Given the description of an element on the screen output the (x, y) to click on. 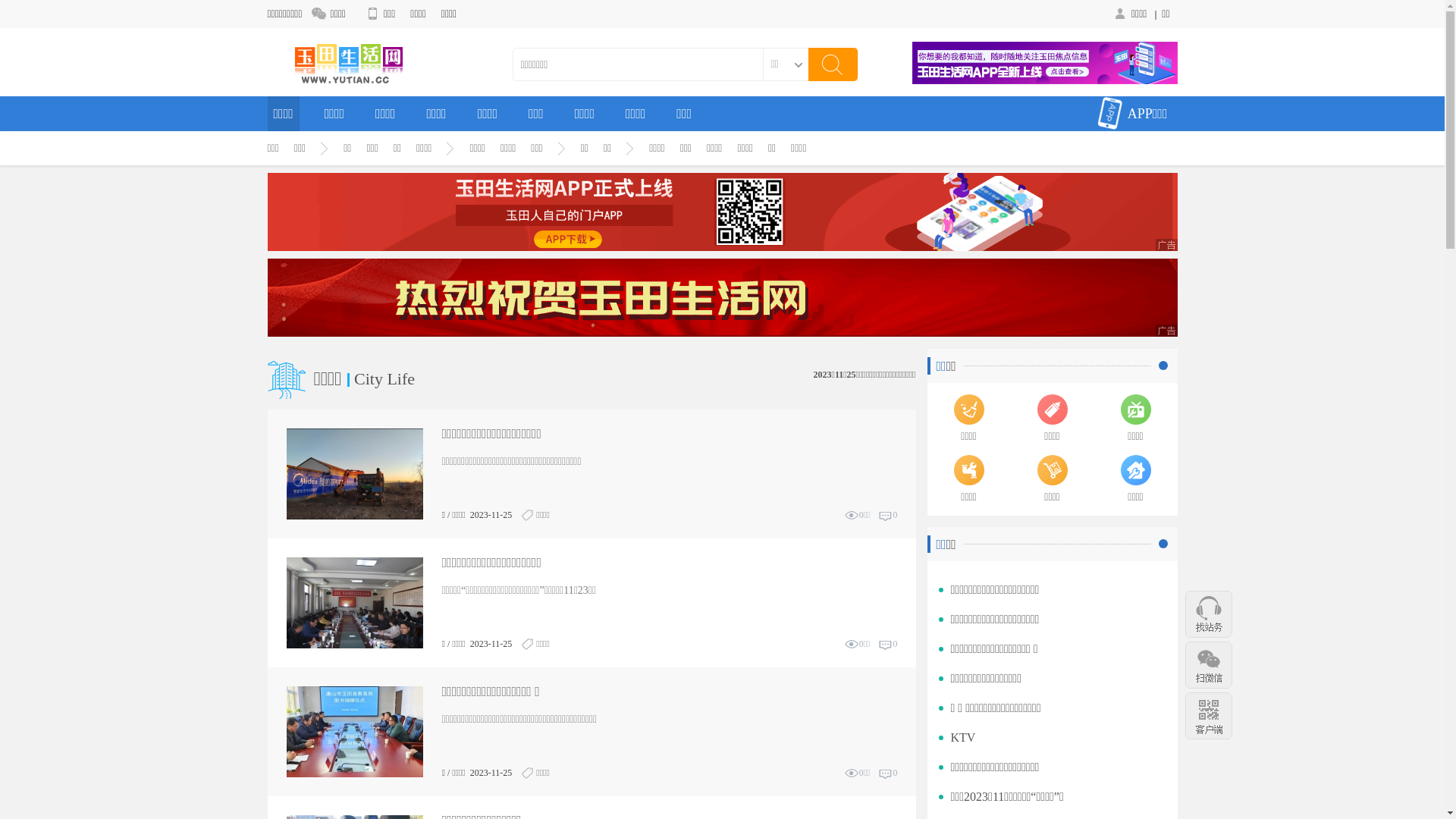
KTV Element type: text (962, 737)
